Given the description of an element on the screen output the (x, y) to click on. 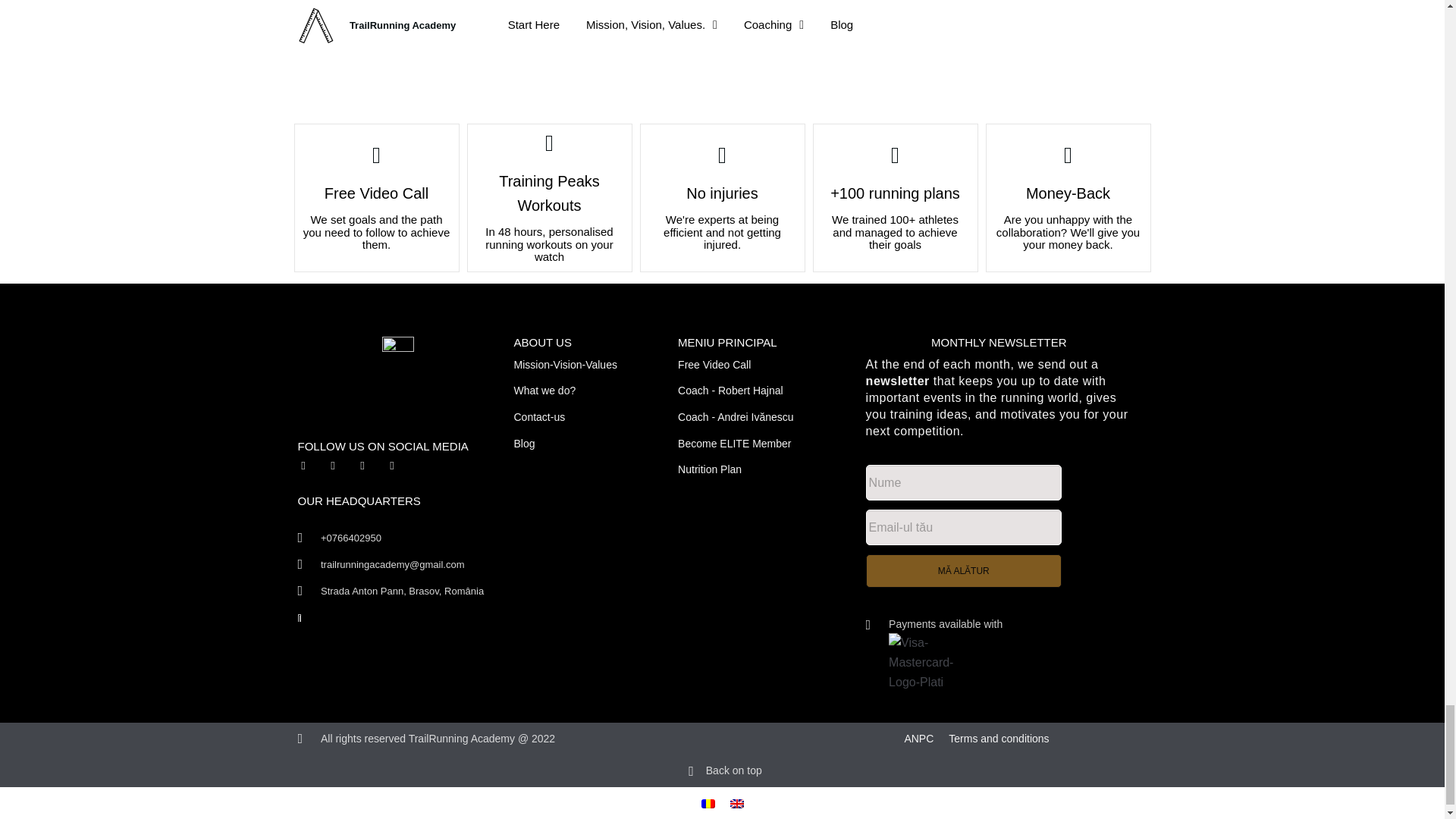
Visa-Mastercard-Logo-Plati (923, 662)
